Given the description of an element on the screen output the (x, y) to click on. 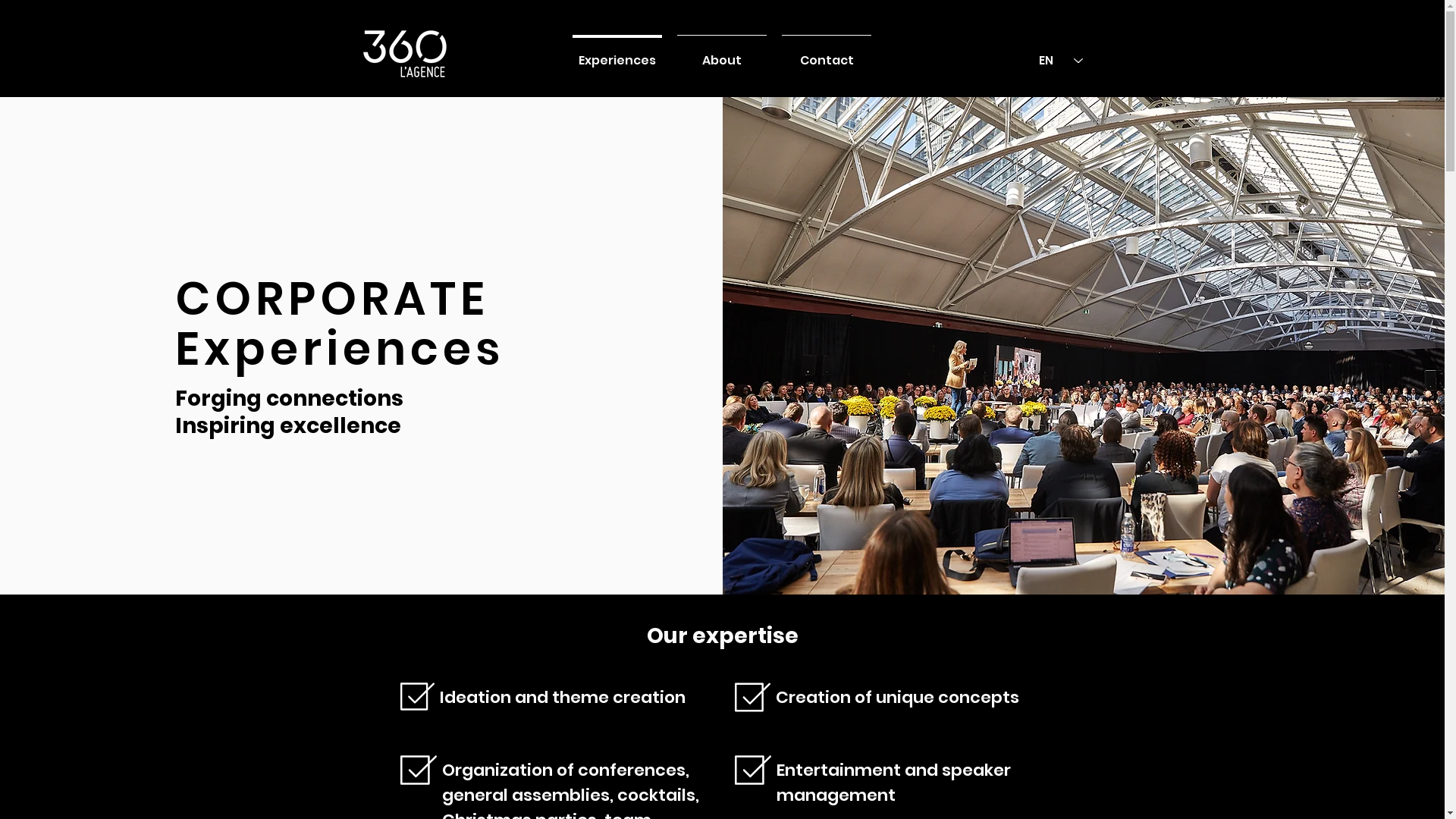
About Element type: text (721, 53)
Experiences Element type: text (616, 53)
Contact Element type: text (826, 53)
